Given the description of an element on the screen output the (x, y) to click on. 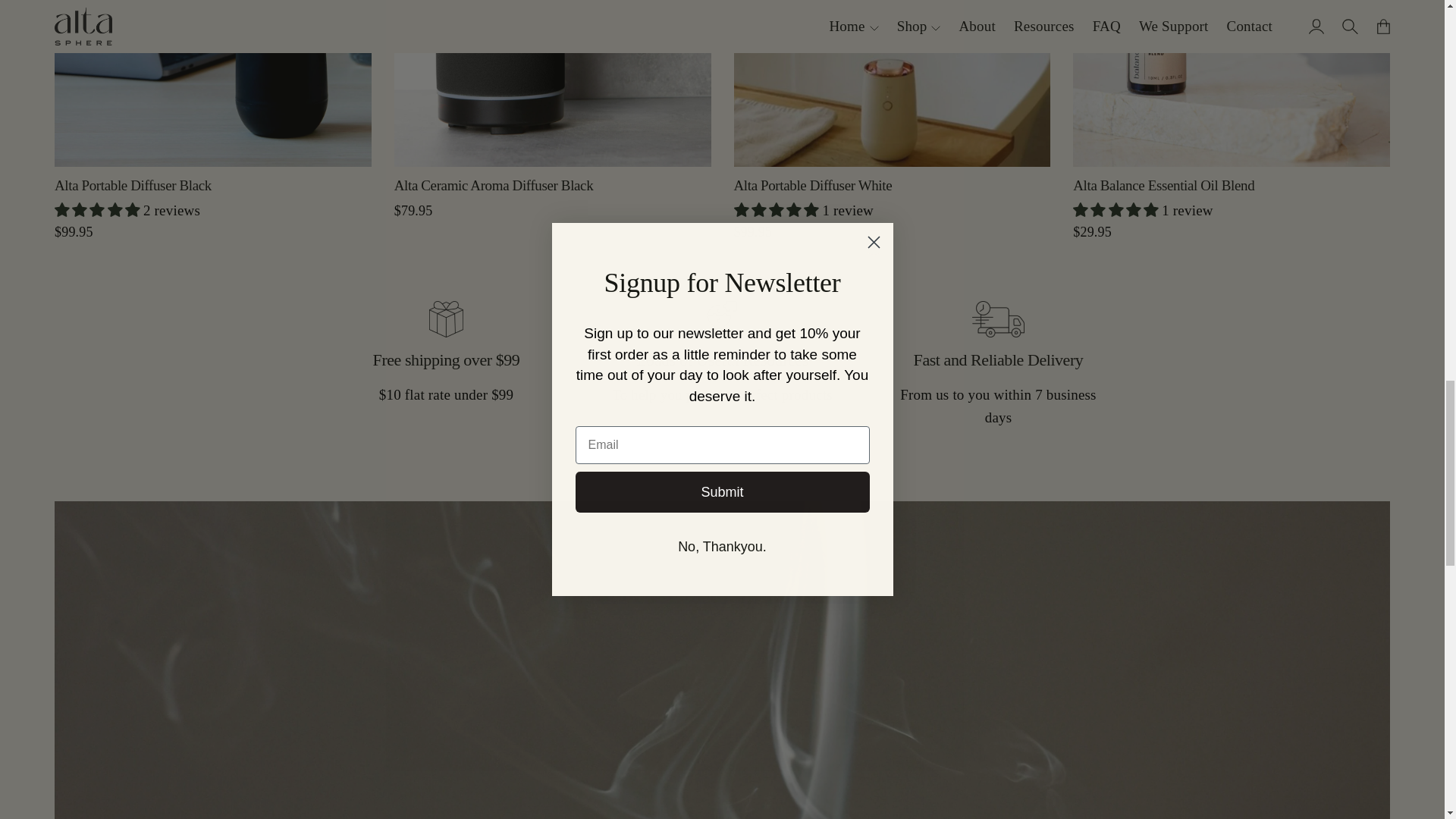
Alta Portable Diffuser Black (213, 83)
